Given the description of an element on the screen output the (x, y) to click on. 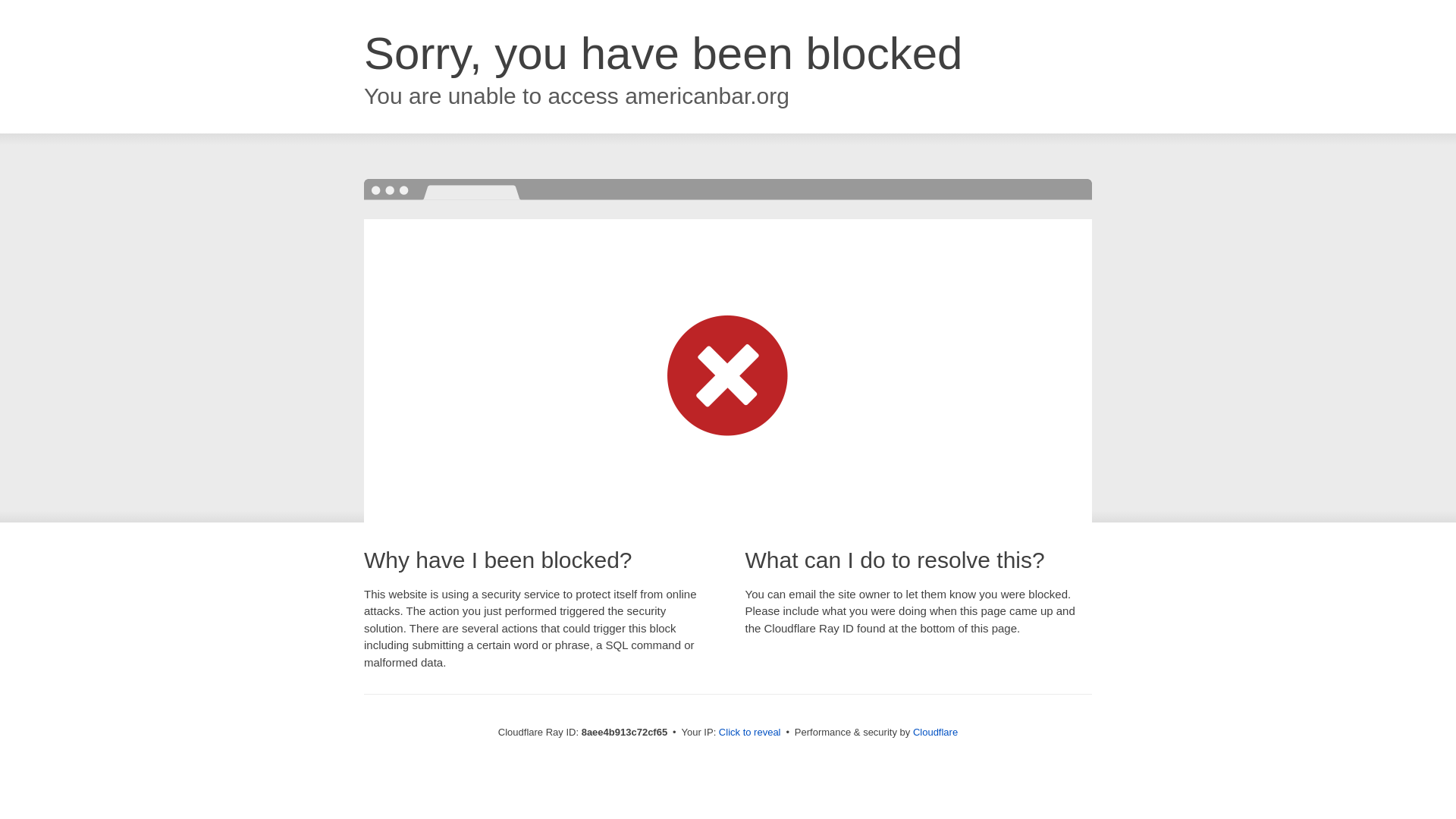
Click to reveal (749, 732)
Cloudflare (935, 731)
